Given the description of an element on the screen output the (x, y) to click on. 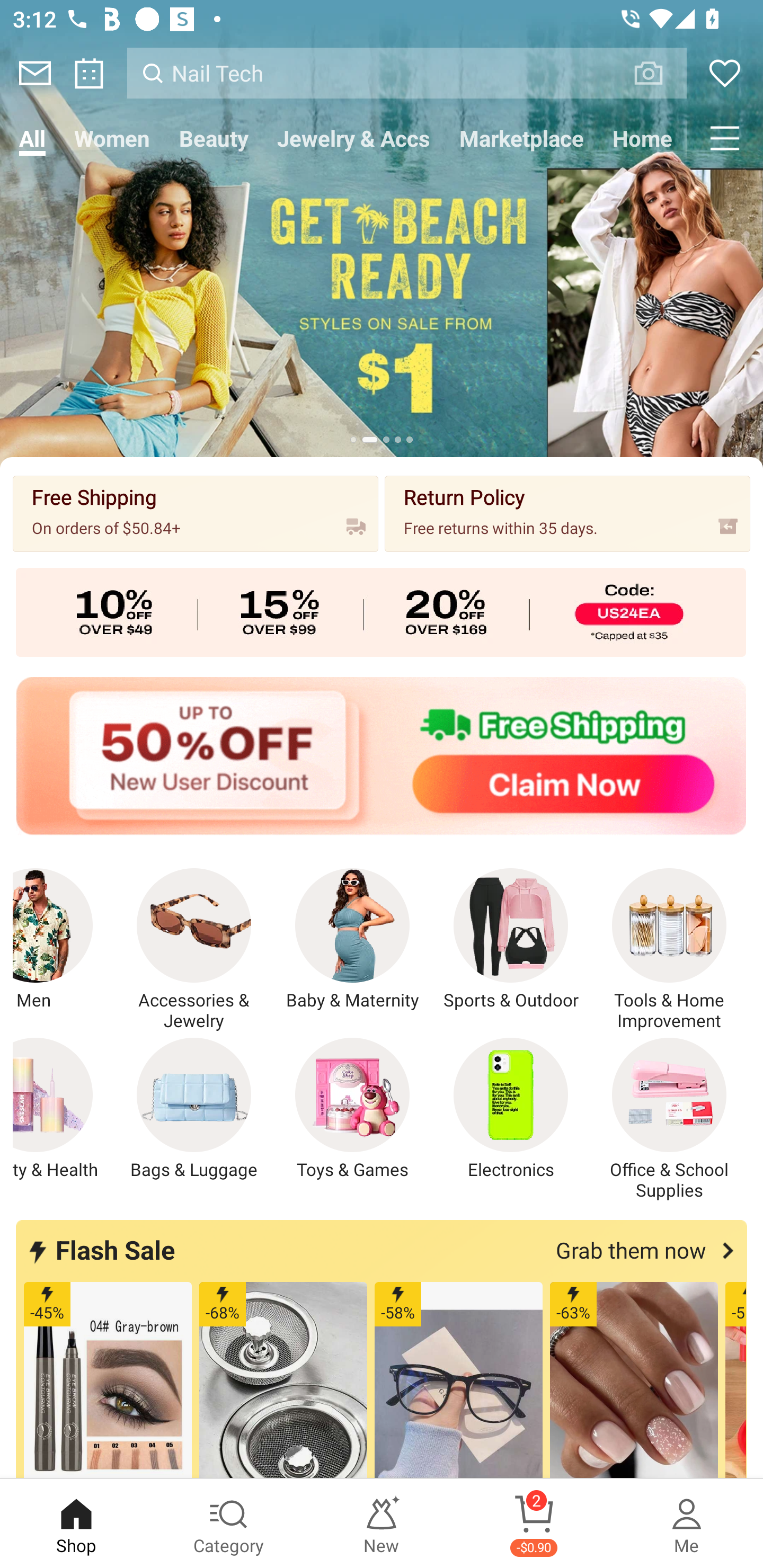
Wishlist (724, 72)
VISUAL SEARCH (657, 72)
All (31, 137)
Women (111, 137)
Beauty (213, 137)
Jewelry & Accs (353, 137)
Marketplace (521, 137)
Home (642, 137)
Free Shipping On orders of $50.84+ (195, 513)
Return Policy Free returns within 35 days. (567, 513)
Men  (62, 939)
Accessories & Jewelry (193, 949)
Baby & Maternity (352, 939)
Sports & Outdoor (511, 939)
Tools & Home Improvement (669, 949)
Beauty & Health (62, 1109)
Bags & Luggage (193, 1109)
Toys & Games (352, 1109)
Electronics (511, 1109)
Office & School Supplies (669, 1119)
Category (228, 1523)
New (381, 1523)
Cart 2 -$0.90 (533, 1523)
Me (686, 1523)
